Given the description of an element on the screen output the (x, y) to click on. 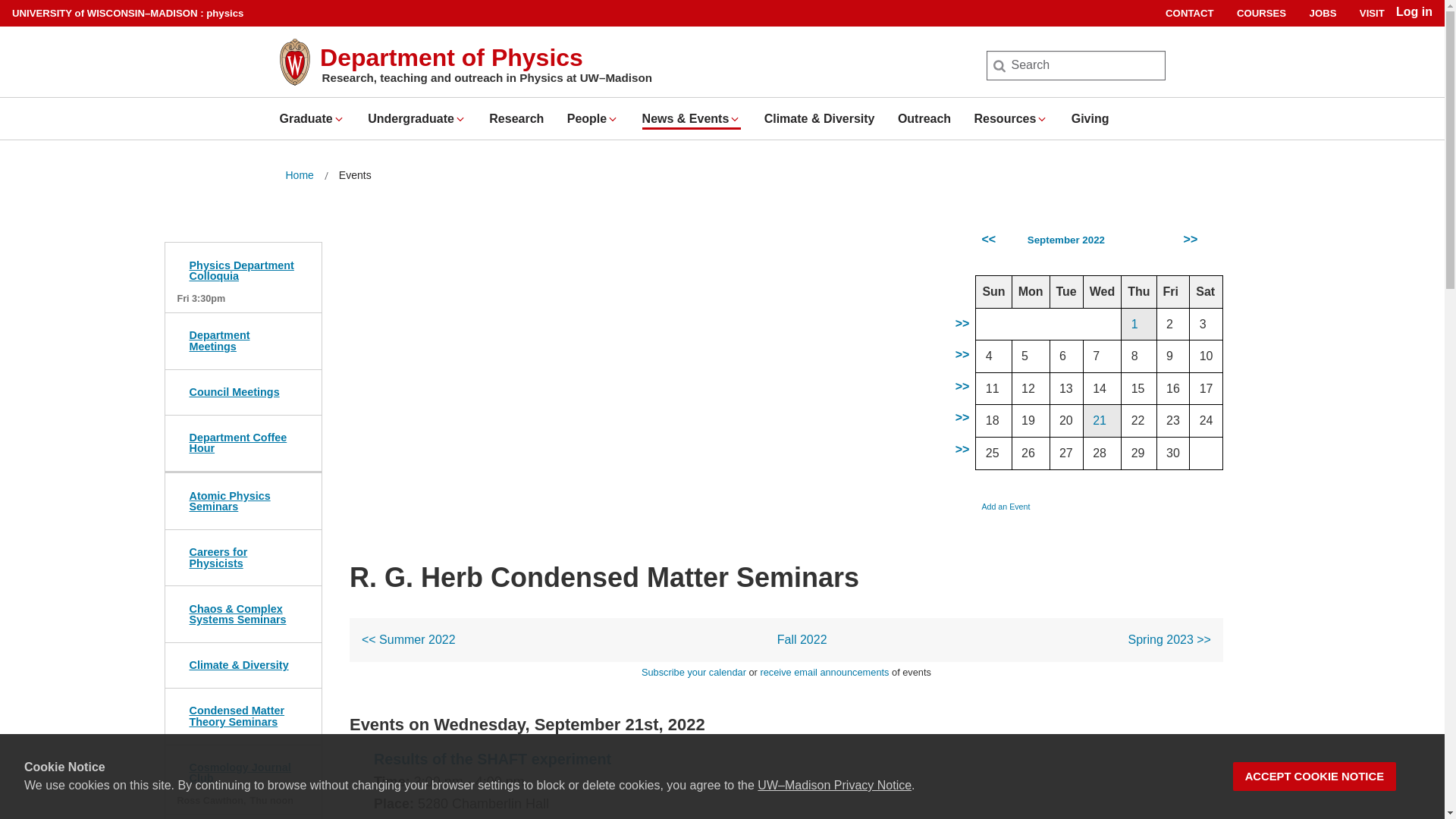
Expand (459, 119)
Graduate Expand (311, 118)
ACCEPT COOKIE NOTICE (1314, 776)
Expand (612, 119)
Expand (339, 119)
Skip to main content (3, 3)
Research (516, 118)
physics (224, 12)
People Expand (592, 118)
Undergraduate Expand (416, 118)
Department of Physics (451, 57)
Events (355, 175)
Home (299, 175)
Search (37, 16)
Expand (735, 119)
